Given the description of an element on the screen output the (x, y) to click on. 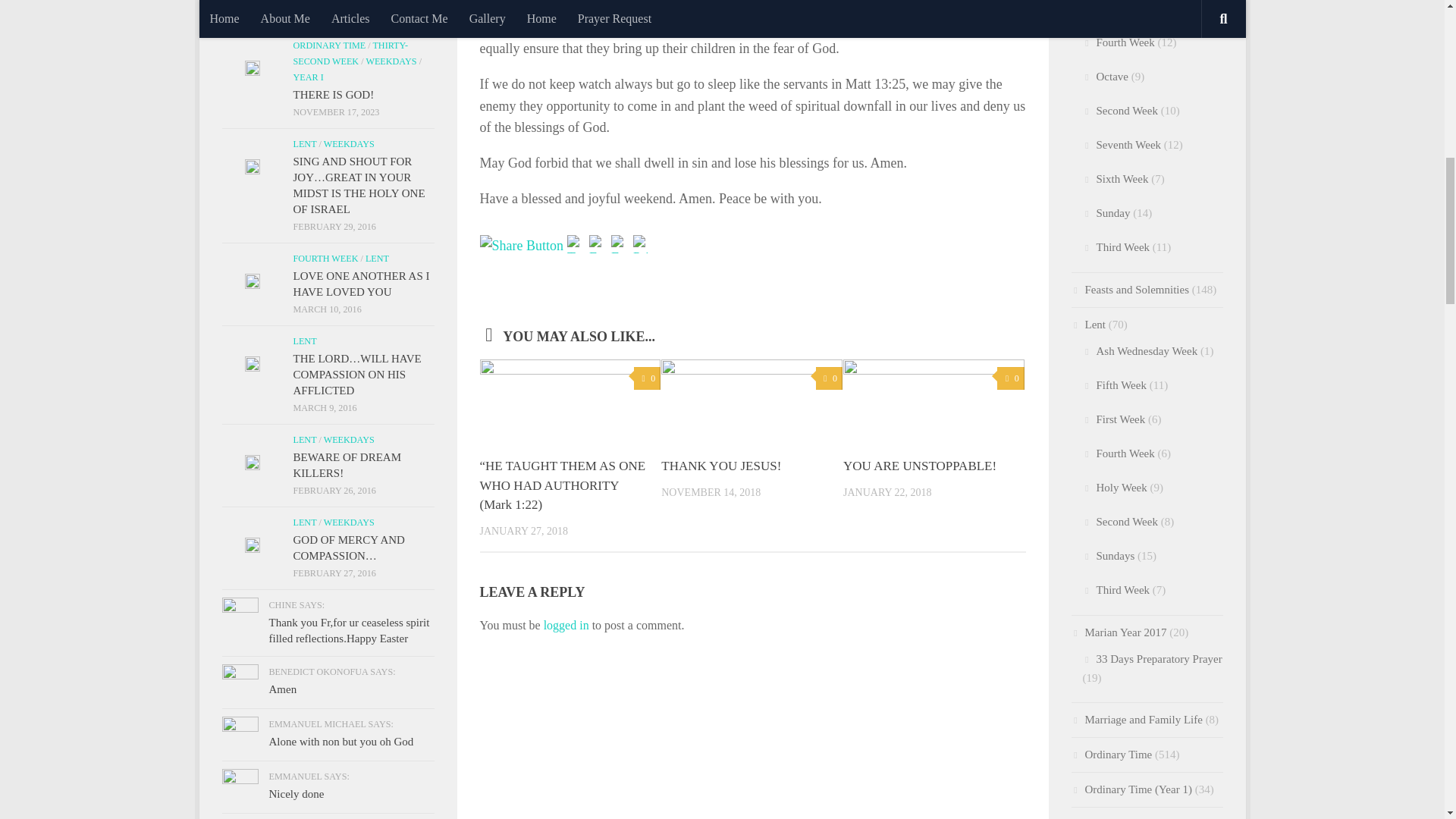
Print (644, 241)
Facebook (600, 241)
Twitter (578, 241)
Email (622, 241)
